Given the description of an element on the screen output the (x, y) to click on. 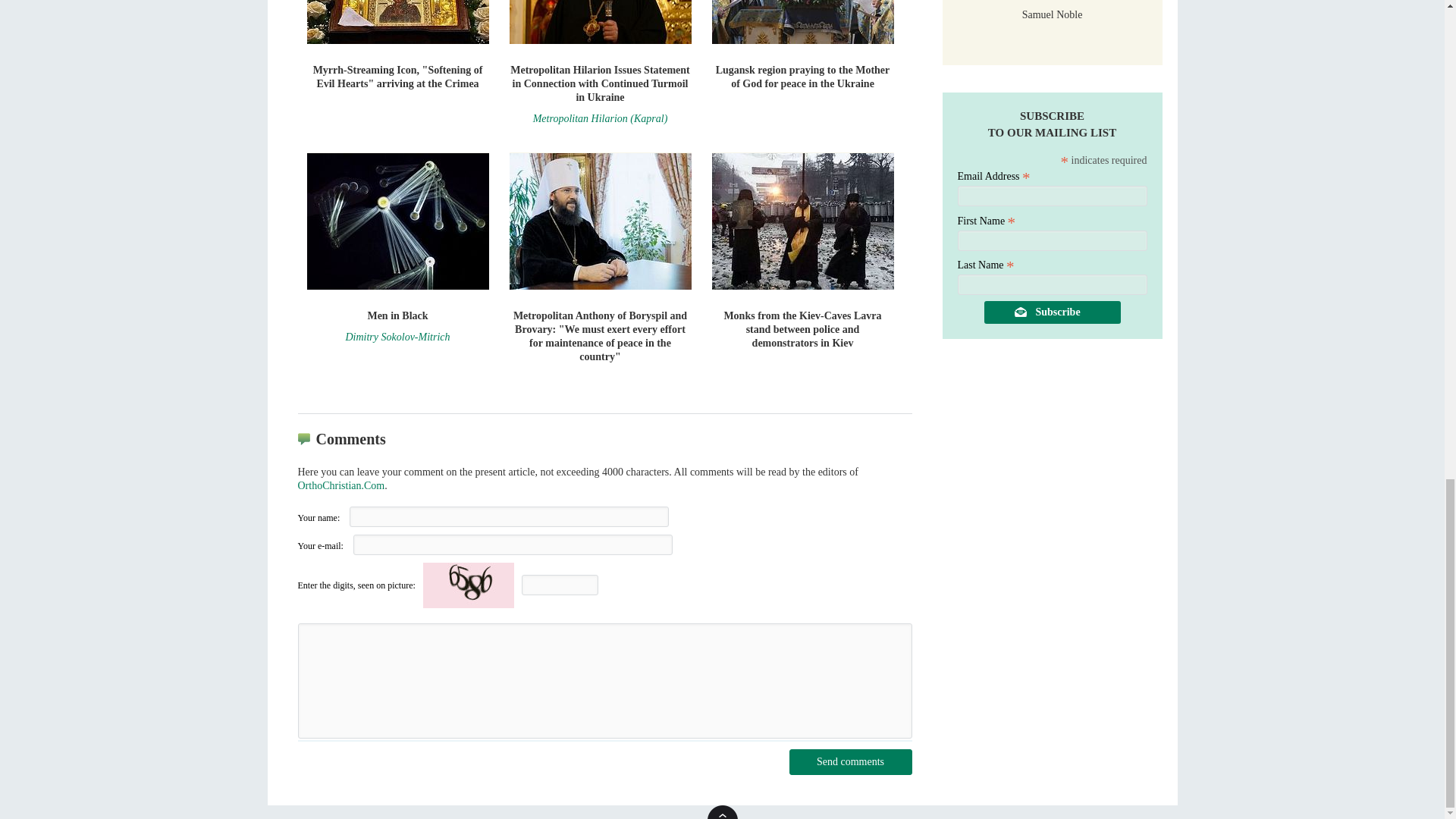
Subscribe (1052, 312)
